Given the description of an element on the screen output the (x, y) to click on. 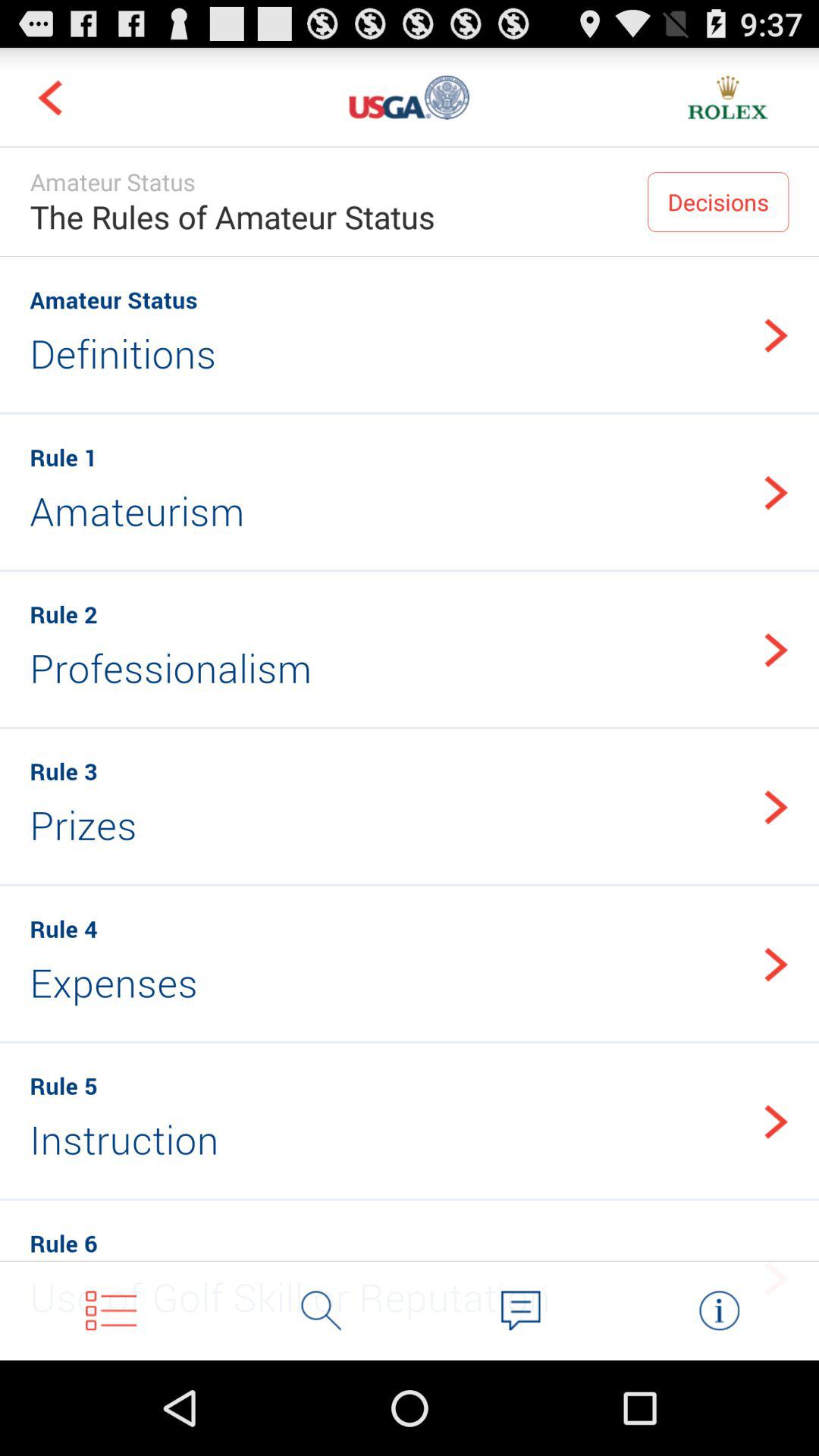
jump until decisions button (717, 202)
